Given the description of an element on the screen output the (x, y) to click on. 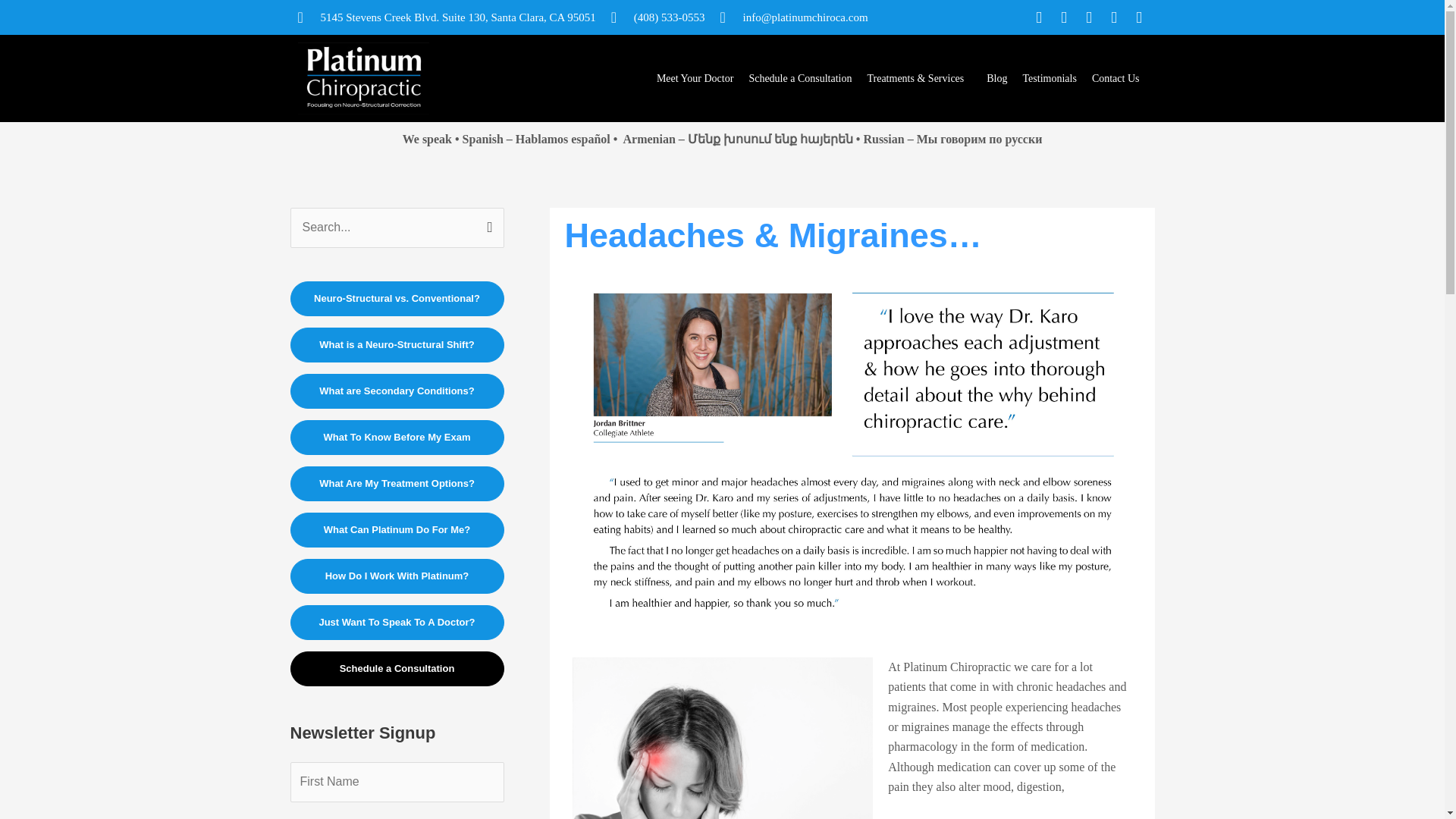
Testimonials (1049, 78)
Yelp (1139, 17)
5145 Stevens Creek Blvd. Suite 130, Santa Clara, CA 95051 (446, 17)
What is a Neuro-Structural Shift? (396, 344)
Just Want To Speak To A Doctor? (396, 622)
How Do I Work With Platinum? (396, 575)
Linkedin (1113, 17)
Neuro-Structural vs. Conventional? (396, 298)
Facebook (1038, 17)
Twitter (1088, 17)
